Given the description of an element on the screen output the (x, y) to click on. 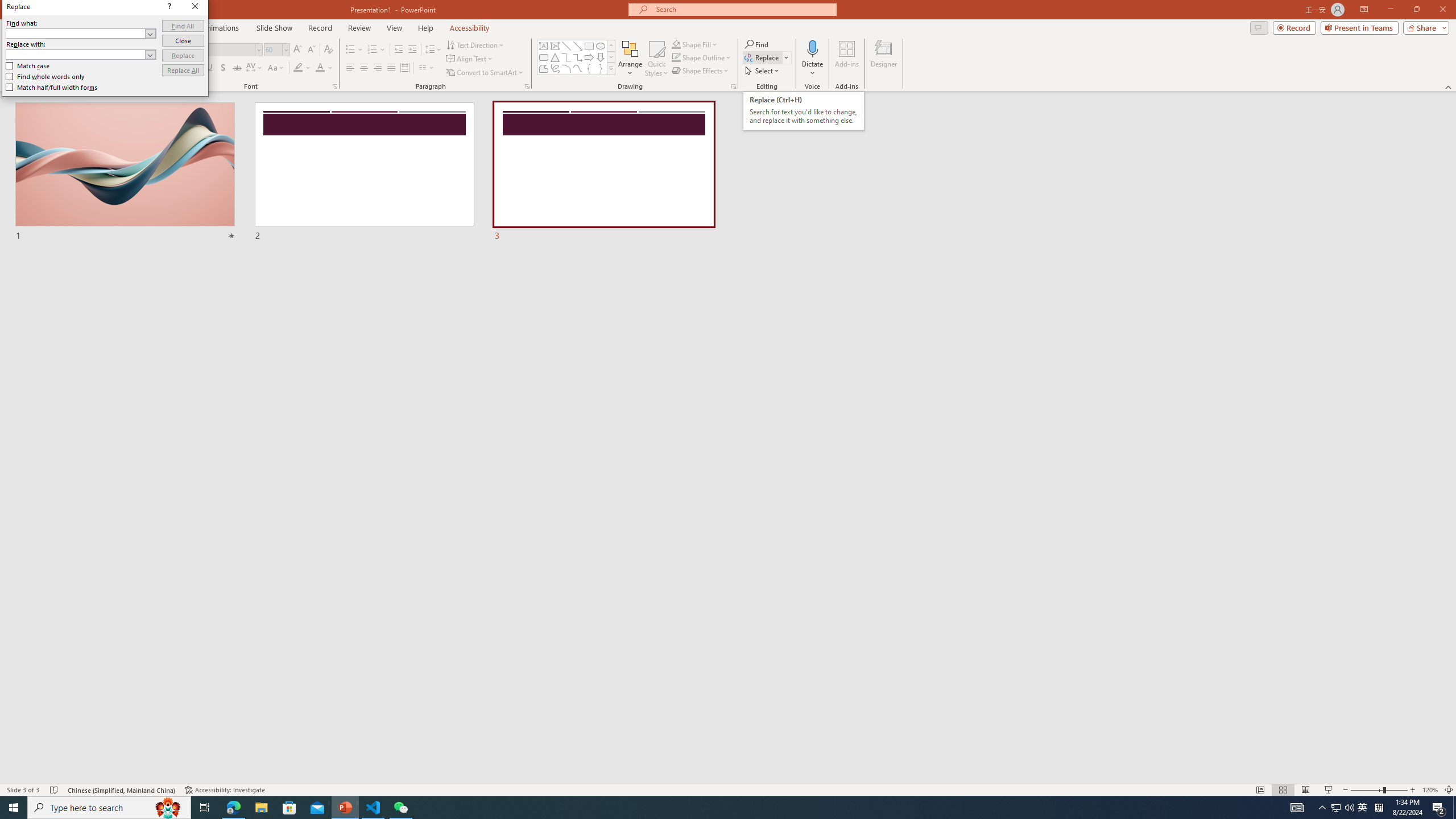
Find All (183, 25)
